Given the description of an element on the screen output the (x, y) to click on. 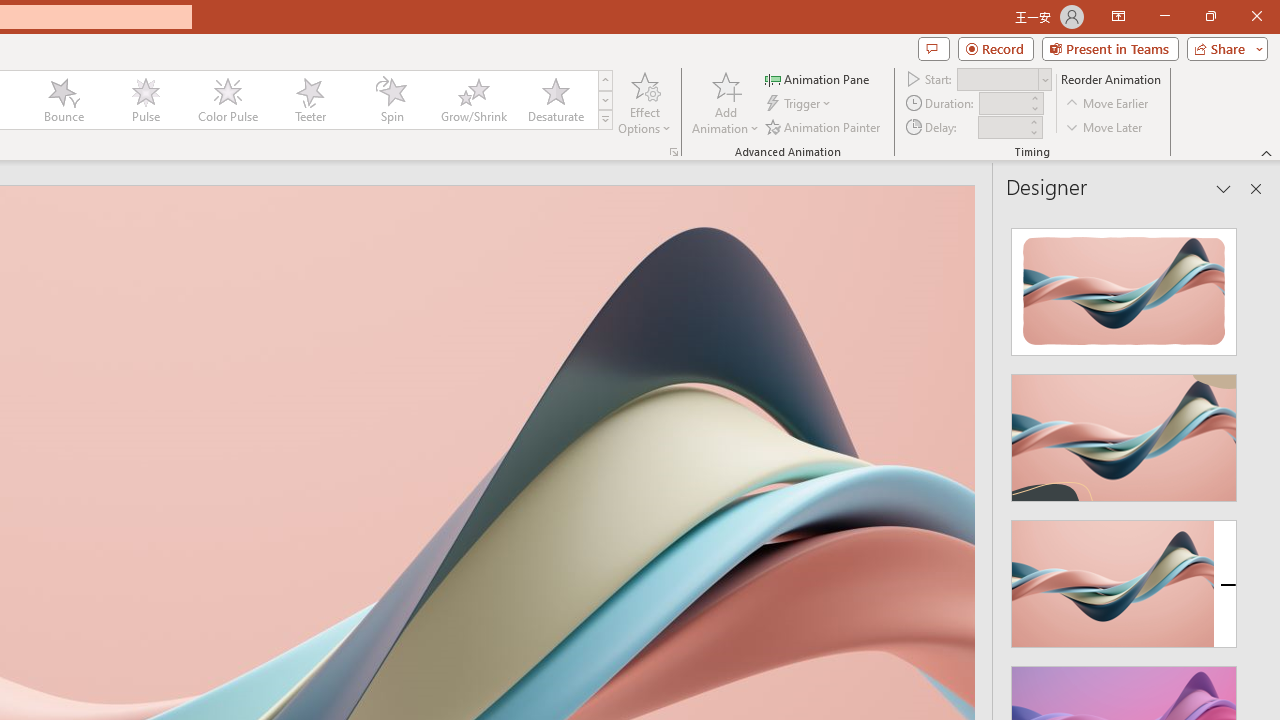
Trigger (799, 103)
Bounce (63, 100)
Spin (391, 100)
Move Earlier (1107, 103)
Animation Duration (1003, 103)
Animation Pane (818, 78)
Add Animation (725, 102)
